Given the description of an element on the screen output the (x, y) to click on. 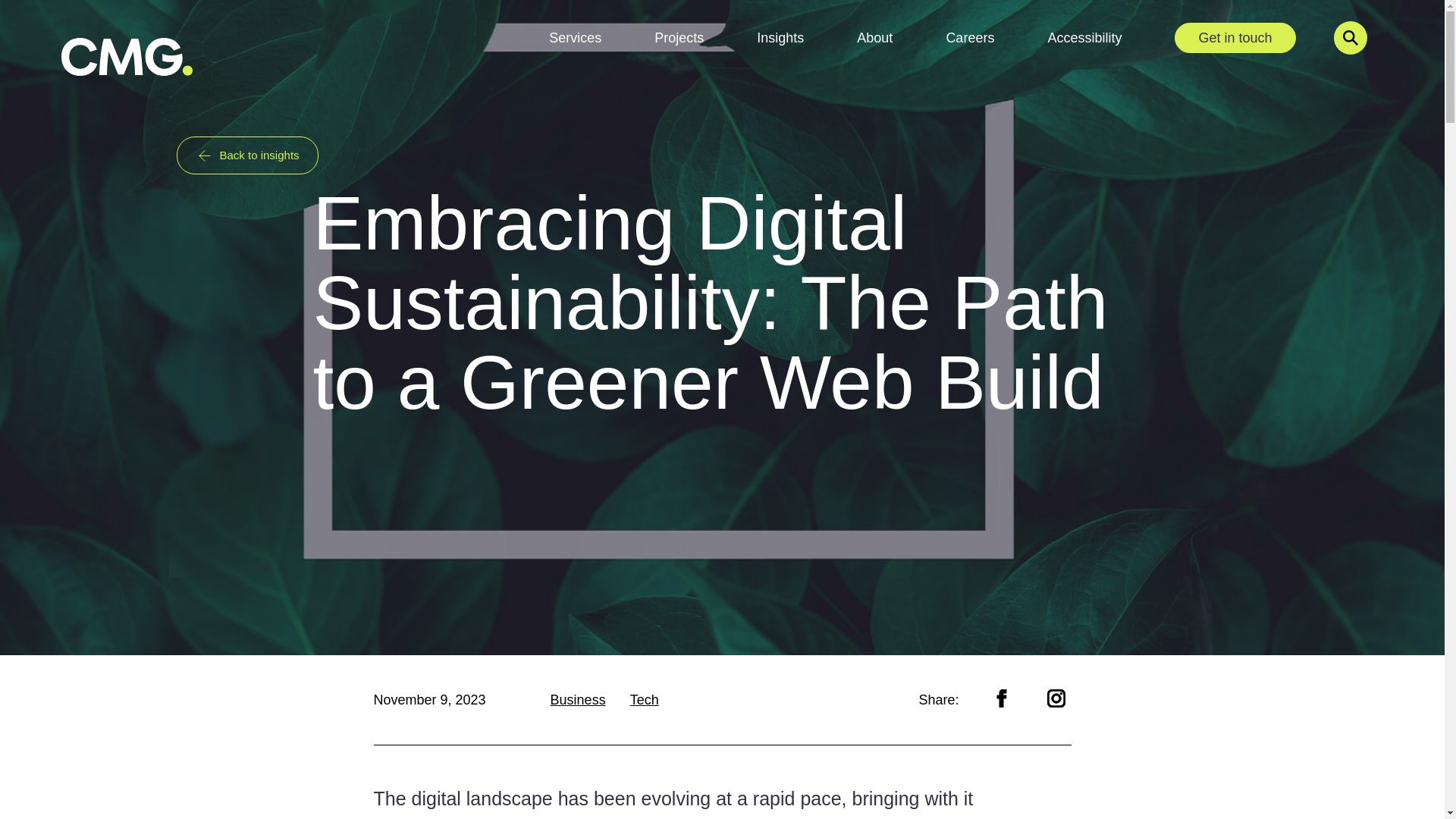
Insights (780, 37)
Get in touch (1234, 37)
Careers (969, 37)
Careers (969, 37)
Get in touch (1234, 37)
Projects (678, 37)
Services (574, 37)
About (874, 37)
Back to insights (246, 155)
Accessibility (1083, 37)
Accessibility (1083, 37)
Projects (678, 37)
Services (574, 37)
Insights (780, 37)
About (874, 37)
